Given the description of an element on the screen output the (x, y) to click on. 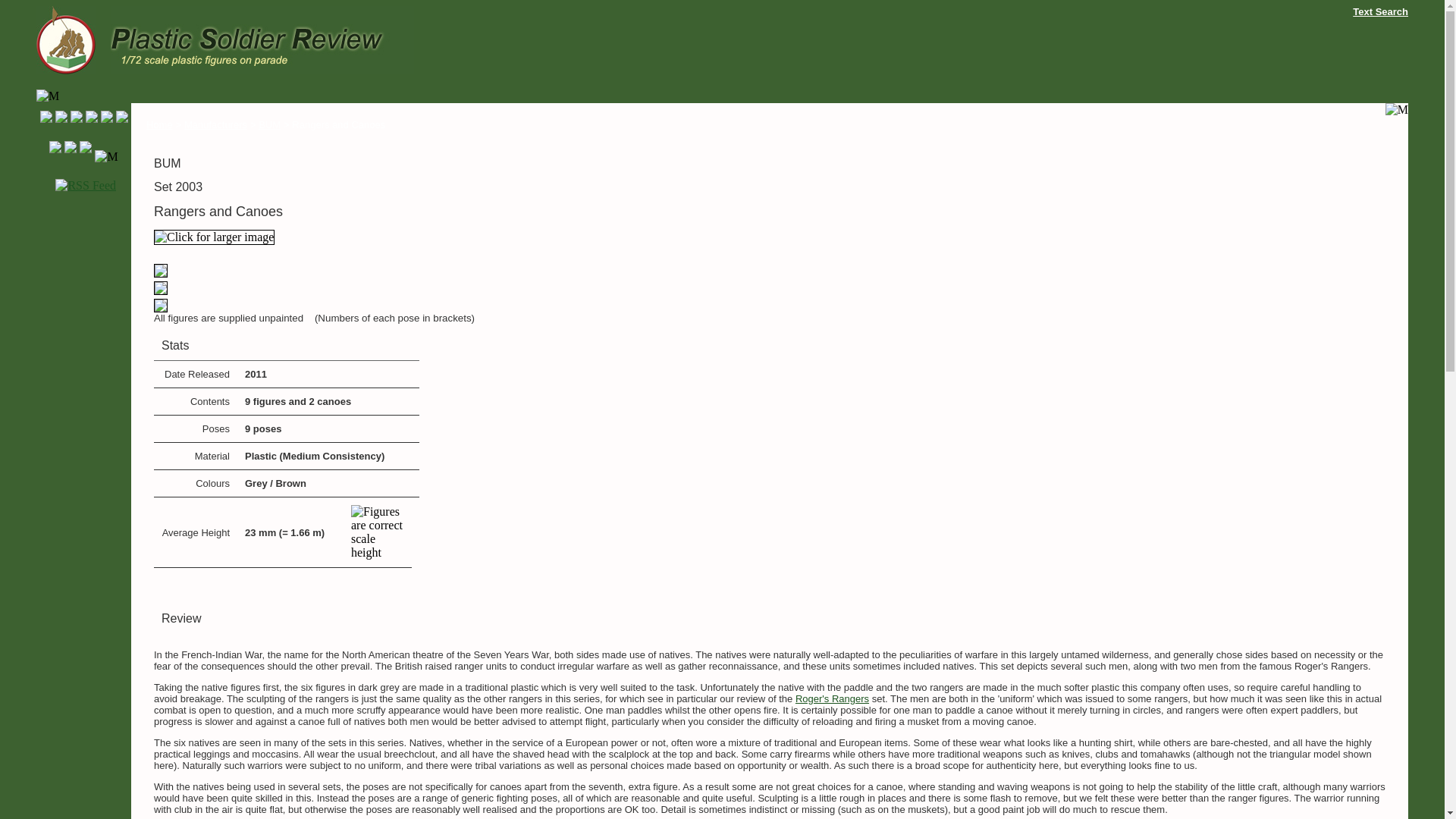
Text Search (1379, 11)
BUM (270, 124)
Home (160, 124)
Figures are correct scale height (377, 532)
Roger's Rangers (831, 698)
RSS Feed (85, 185)
Manufacturers (215, 124)
